Given the description of an element on the screen output the (x, y) to click on. 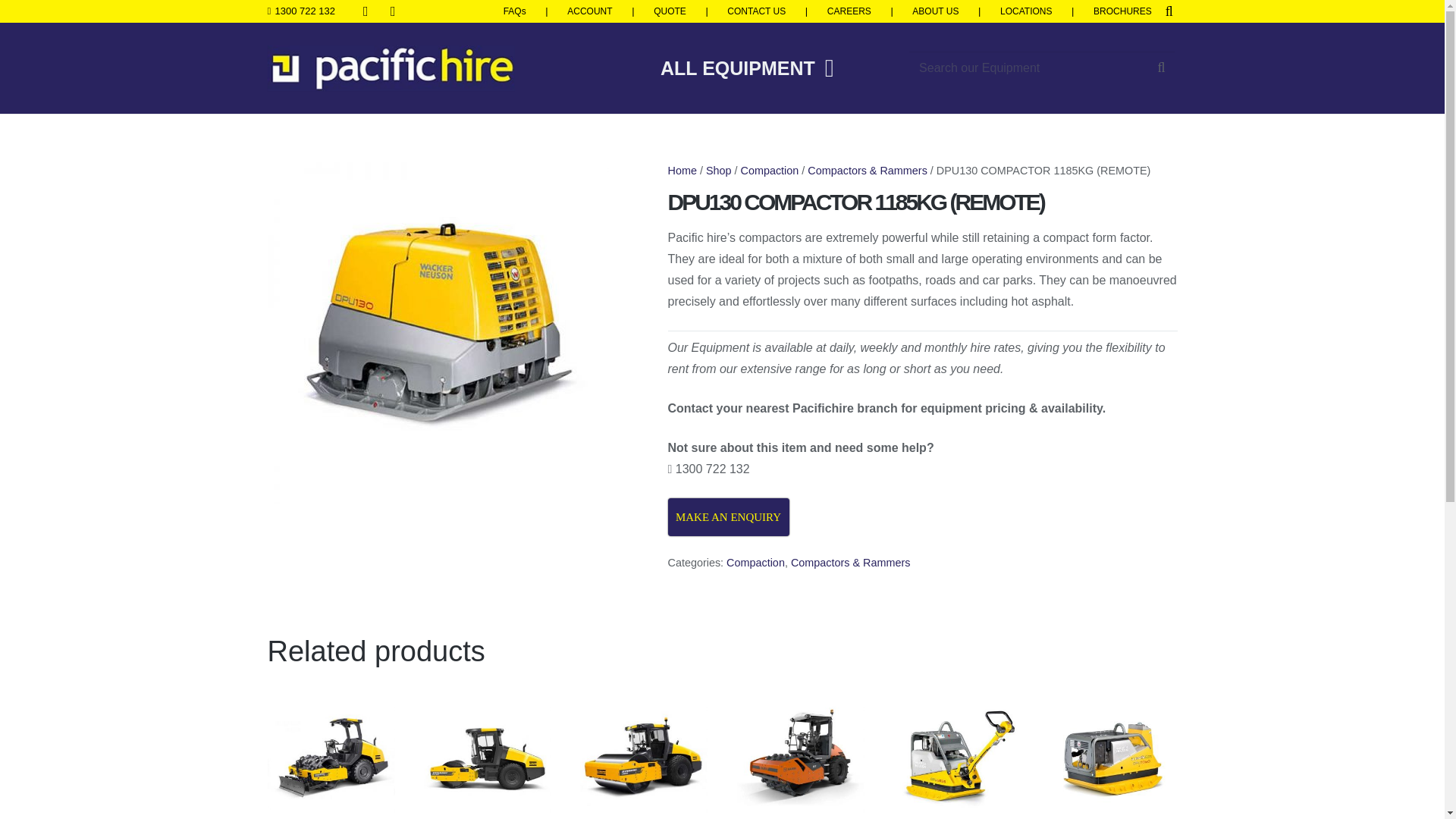
FAQs (514, 10)
ALL EQUIPMENT (746, 67)
CAREERS (848, 10)
DPU130-pacific-hire (437, 332)
LOCATIONS (1025, 10)
1300 722 132 (300, 10)
LinkedIn (392, 12)
ACCOUNT (589, 10)
ABOUT US (935, 10)
QUOTE (669, 10)
Facebook (365, 12)
CONTACT US (756, 10)
BROCHURES (1122, 10)
